Given the description of an element on the screen output the (x, y) to click on. 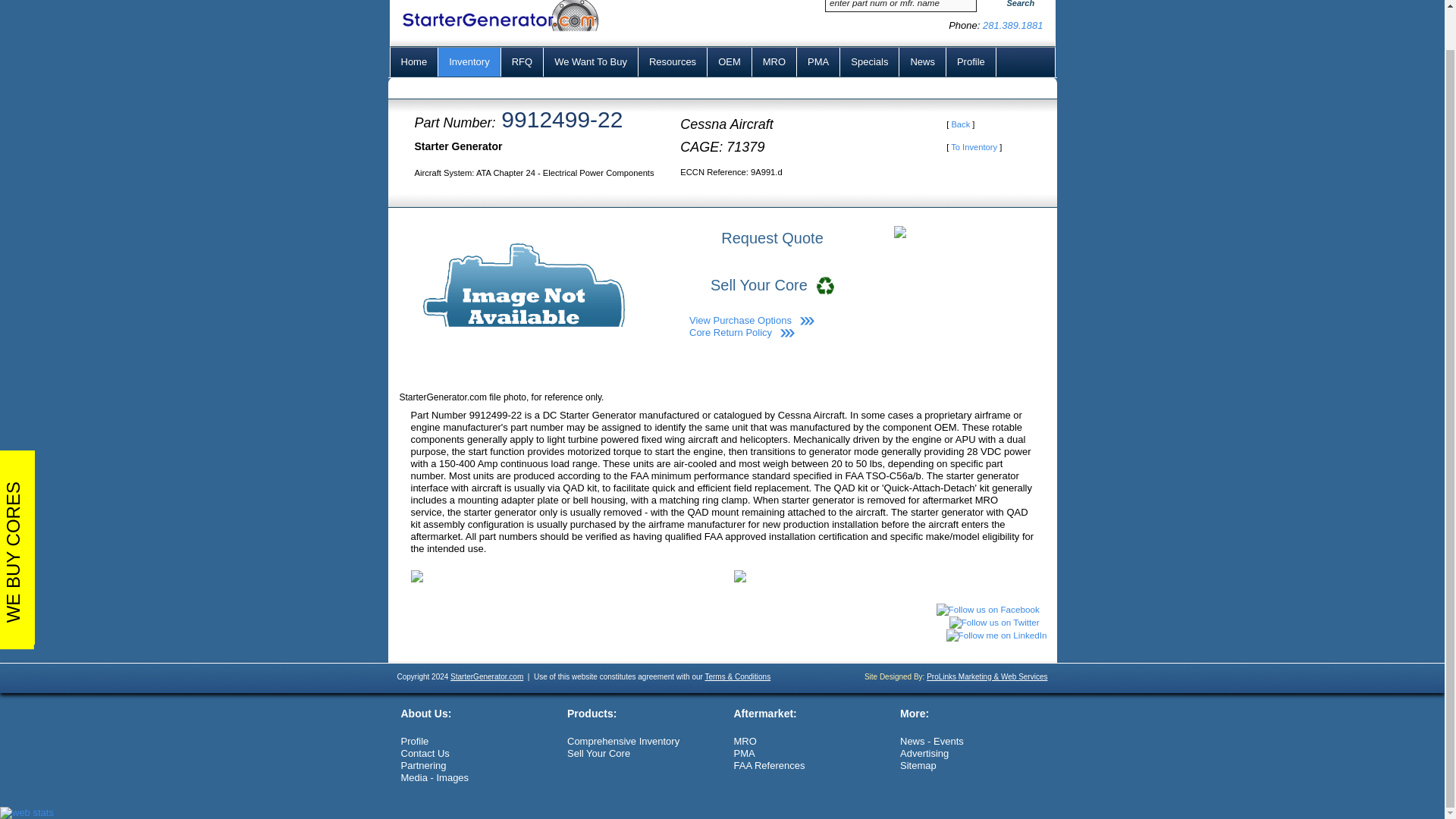
Home (414, 61)
web stats (26, 811)
OEM (729, 61)
Request Quote (772, 237)
Search (1014, 6)
Back (959, 123)
StarterGenerator.com (485, 676)
Specials (869, 61)
News (922, 61)
We Want To Buy (591, 61)
Core Return Policy (729, 332)
Sell Your Core   (772, 284)
281.389.1881 (1012, 25)
enter part num or mfr. name (900, 6)
To Inventory (973, 146)
